Given the description of an element on the screen output the (x, y) to click on. 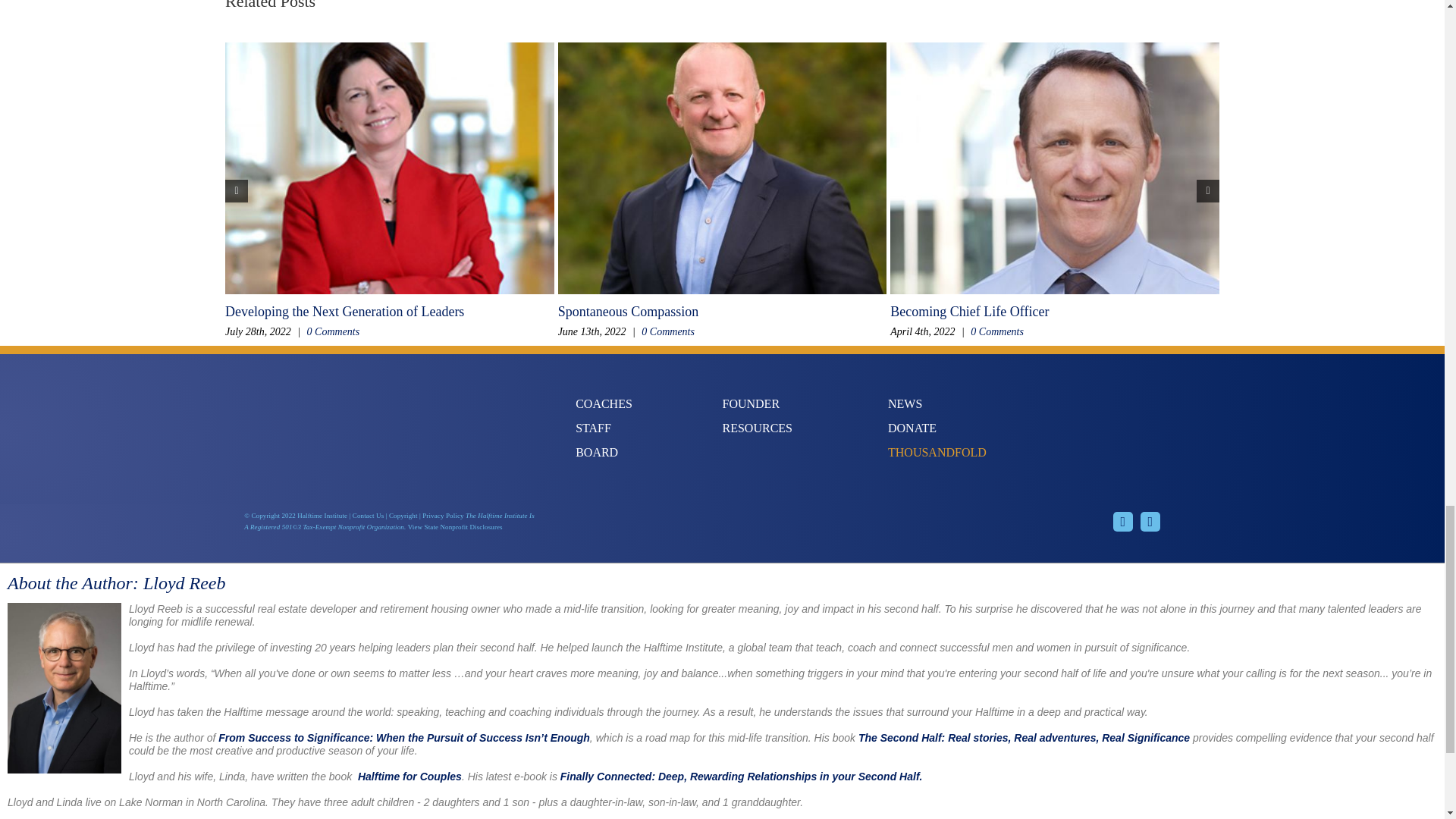
Developing the Next Generation of Leaders (344, 311)
